Given the description of an element on the screen output the (x, y) to click on. 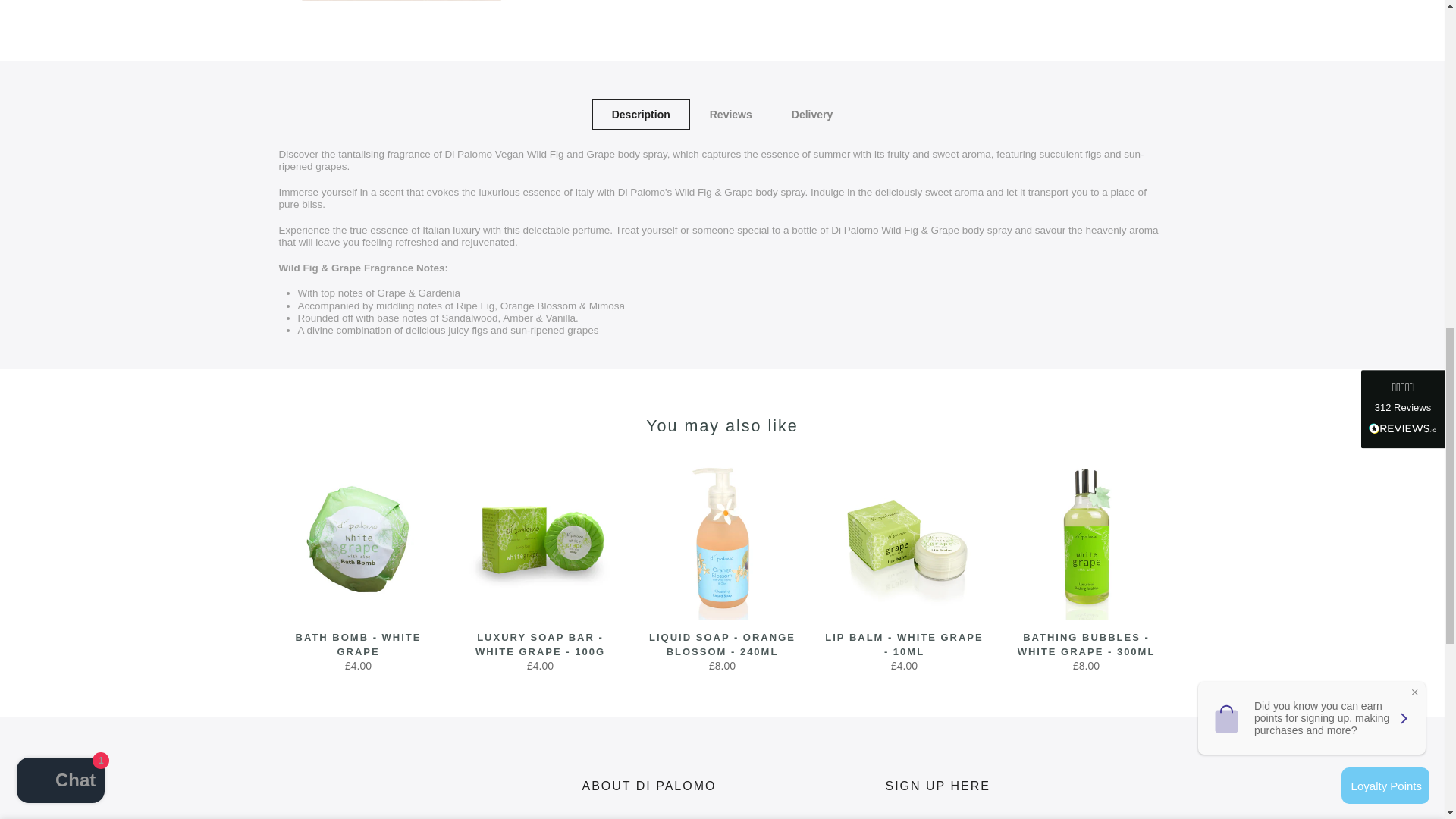
1 (1001, 35)
